Given the description of an element on the screen output the (x, y) to click on. 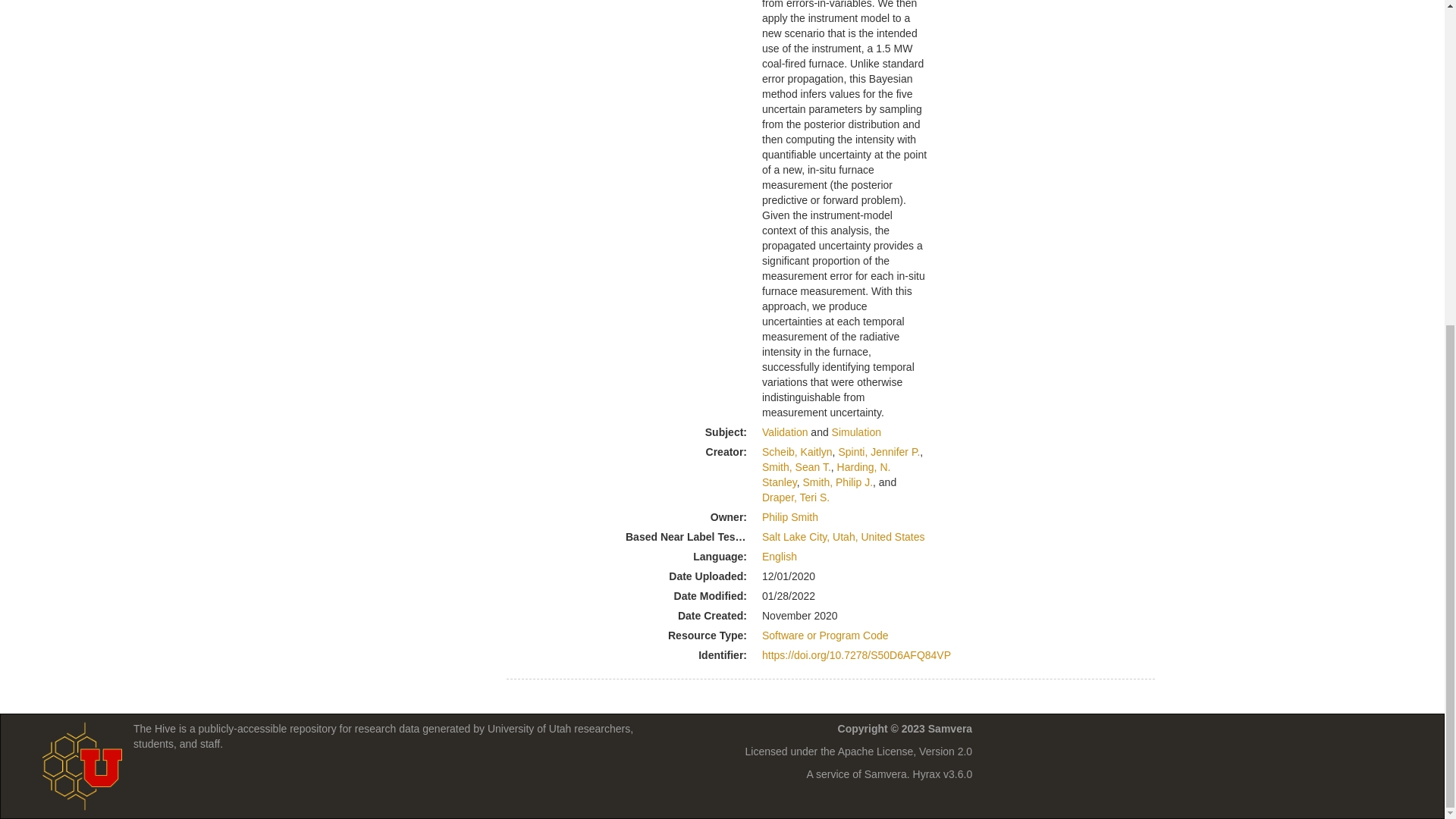
Salt Lake City, Utah, United States (842, 536)
Smith, Sean T. (796, 467)
Philip Smith (789, 517)
Spinti, Jennifer P. (879, 451)
Smith, Philip J. (837, 481)
Draper, Teri S. (795, 497)
Simulation (855, 431)
Validation (784, 431)
Scheib, Kaitlyn (796, 451)
Harding, N. Stanley (825, 474)
